Given the description of an element on the screen output the (x, y) to click on. 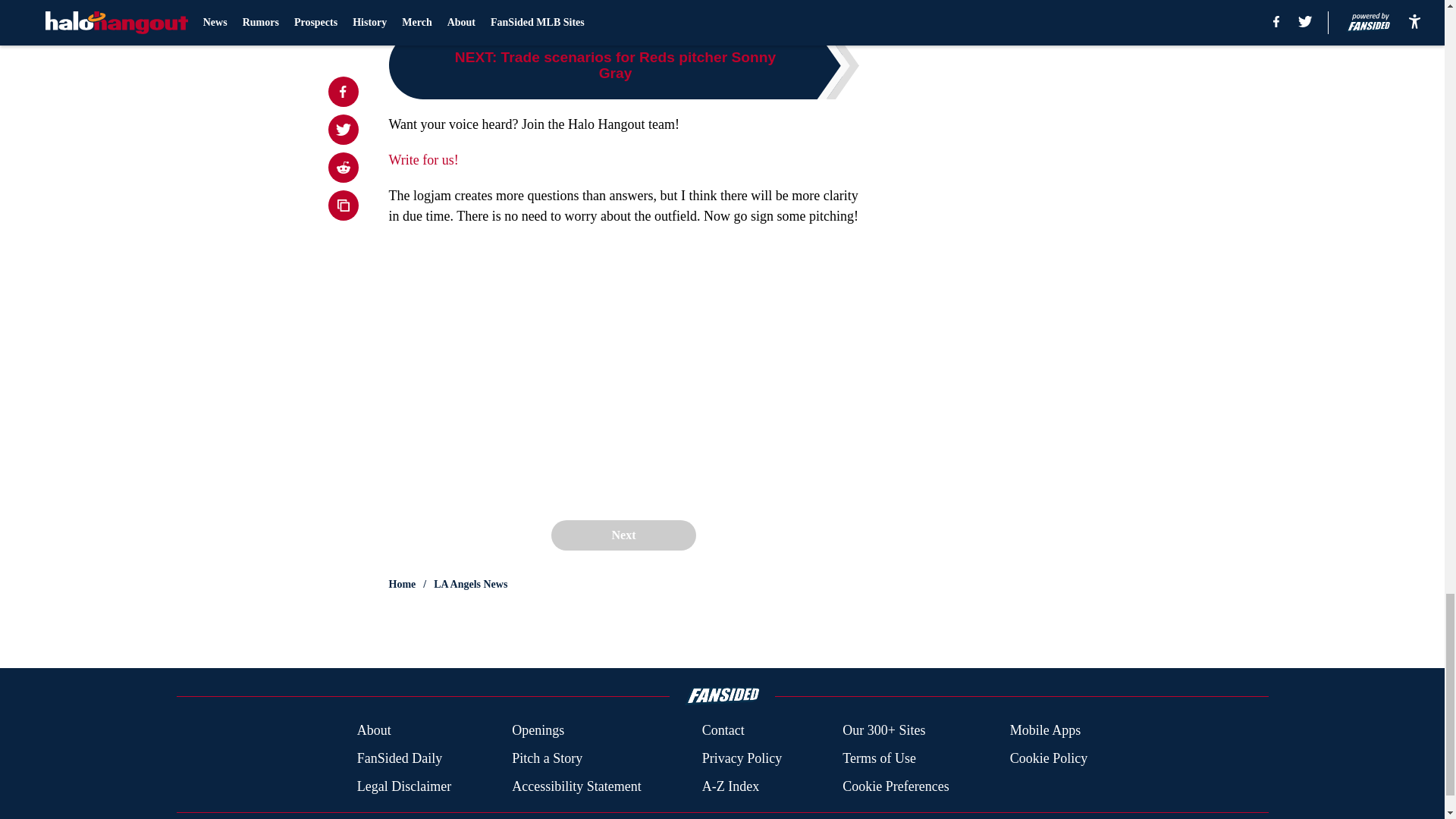
Pitch a Story (547, 758)
FanSided Daily (399, 758)
NEXT: Trade scenarios for Reds pitcher Sonny Gray (623, 65)
Contact (722, 730)
LA Angels News (469, 584)
Write for us! (423, 159)
Home (401, 584)
About (373, 730)
Terms of Use (879, 758)
Openings (538, 730)
